Given the description of an element on the screen output the (x, y) to click on. 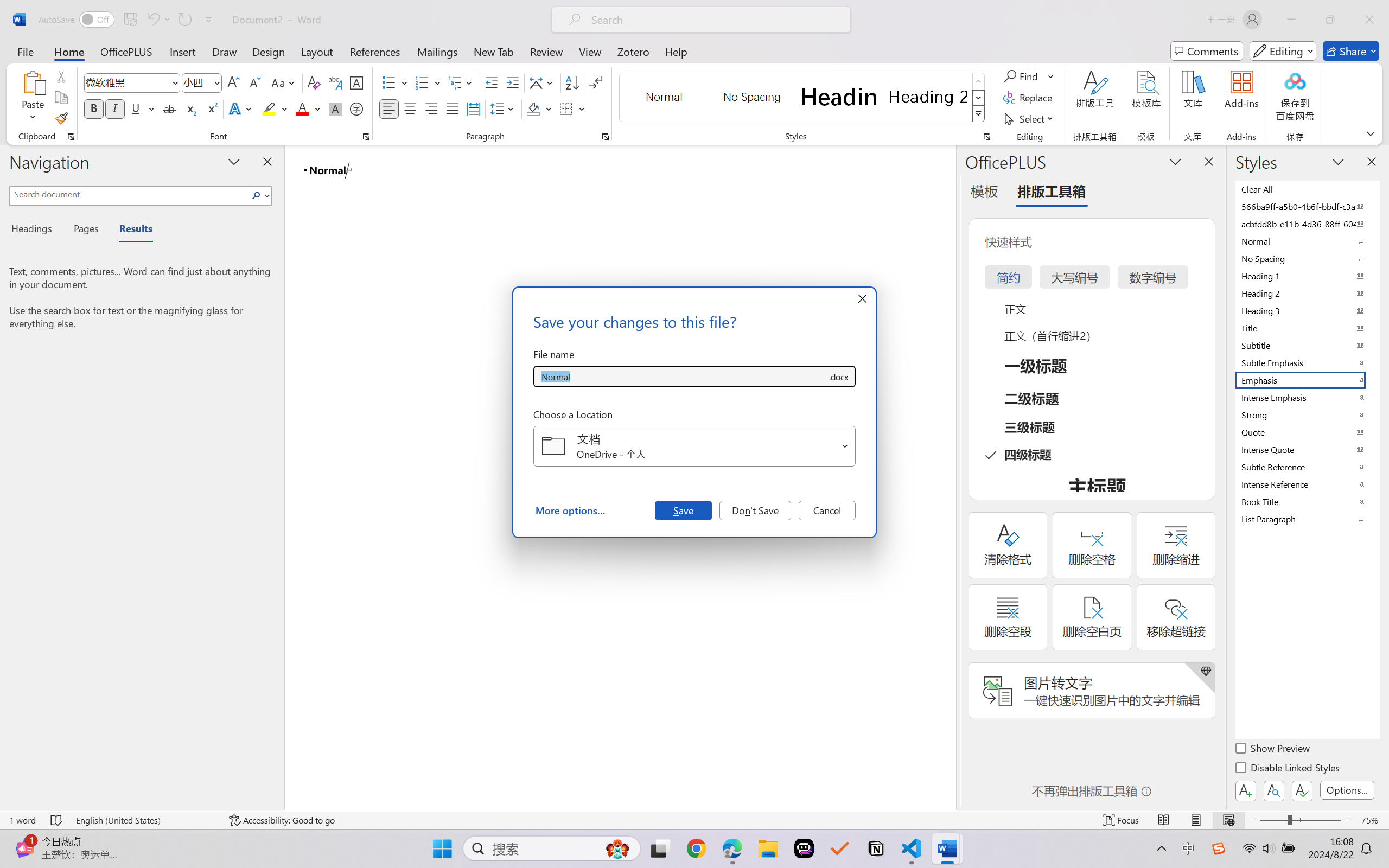
Font (132, 82)
Class: MsoCommandBar (694, 819)
Intense Reference (1306, 484)
AutomationID: DynamicSearchBoxGleamImage (617, 848)
Strong (1306, 414)
Spelling and Grammar Check No Errors (56, 819)
Distributed (473, 108)
Design (268, 51)
Choose a Location (694, 446)
Character Shading (334, 108)
Book Title (1306, 501)
